Given the description of an element on the screen output the (x, y) to click on. 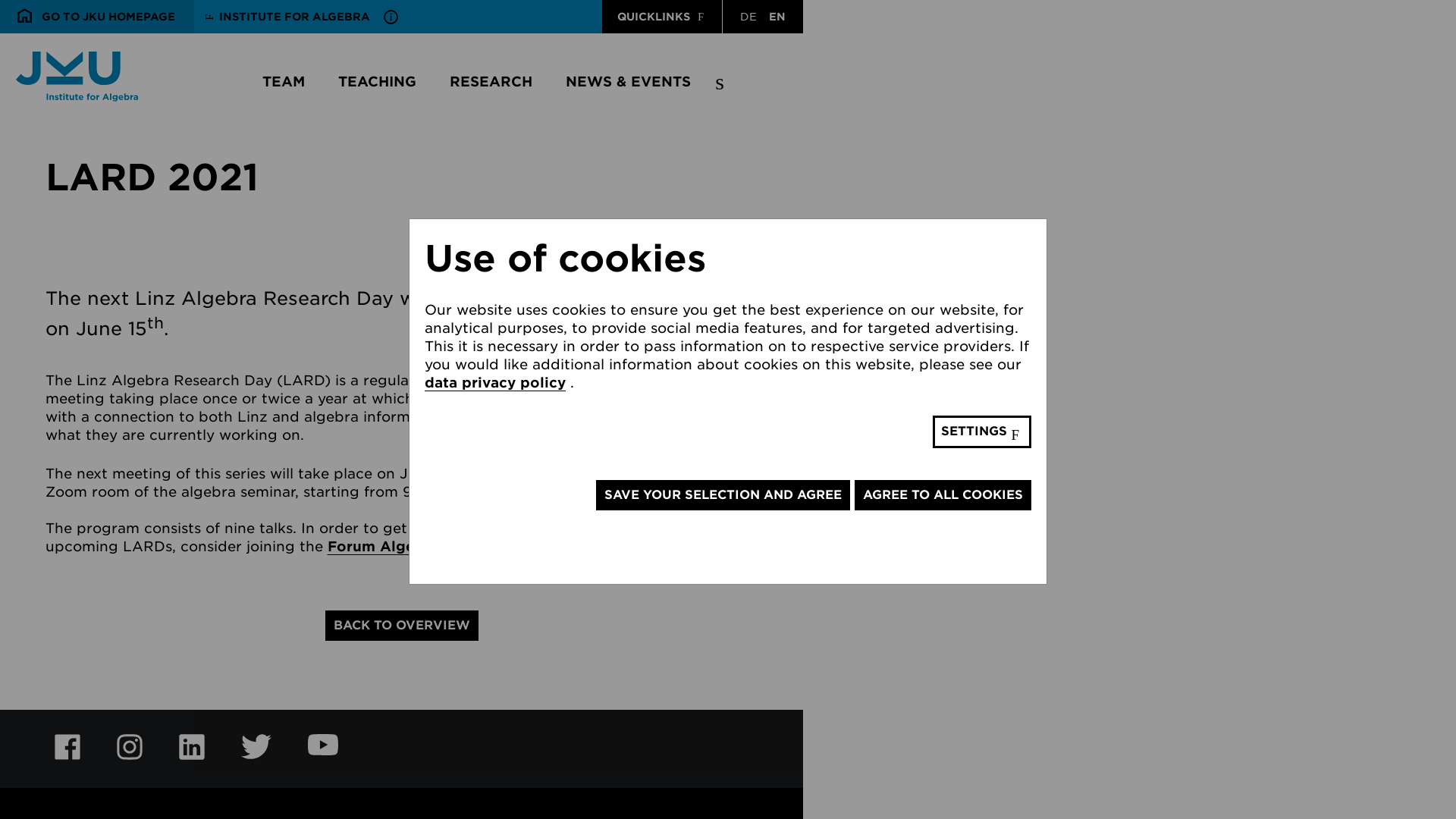
QUICKLINKS (662, 16)
GO TO JKU HOMEPAGE (96, 16)
